Given the description of an element on the screen output the (x, y) to click on. 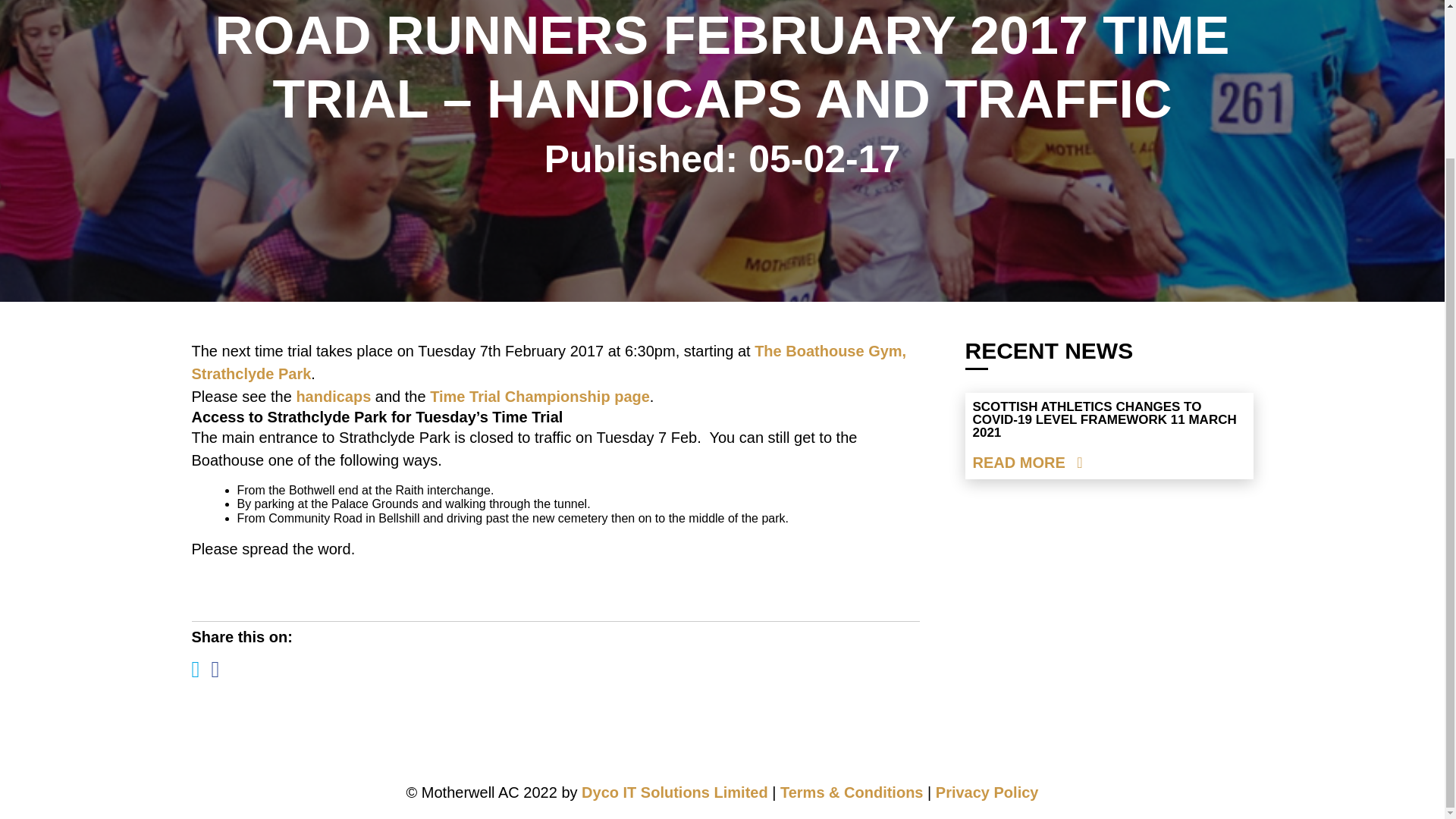
Time Trial Championship page (539, 396)
READ MORE (1026, 462)
The Boathouse Gym, Strathclyde Park (547, 362)
Dyco IT Solutions Limited (674, 791)
Privacy Policy (987, 791)
handicaps (331, 396)
